Given the description of an element on the screen output the (x, y) to click on. 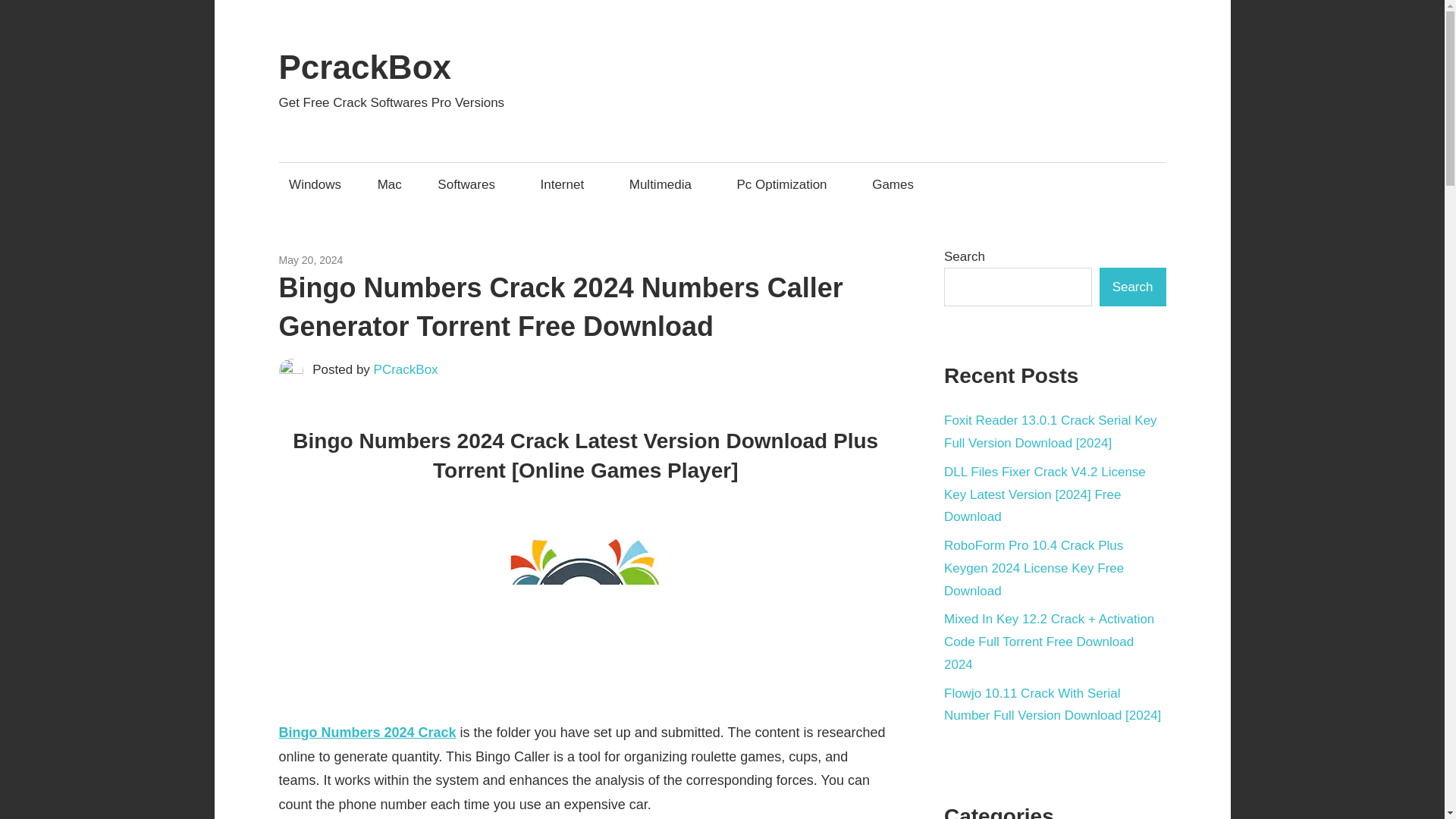
View all posts by PCrackBox (406, 369)
Tool (469, 259)
Windows (509, 259)
Bingo Numbers 2024 Crack (368, 732)
PcrackBox (365, 66)
8:33 am (311, 259)
Internet (566, 184)
Multimedia (664, 184)
Games (359, 259)
May 20, 2024 (311, 259)
Mac (439, 259)
Pc Optimization (785, 184)
Softwares (471, 184)
Windows (315, 184)
PCrackBox (406, 369)
